Given the description of an element on the screen output the (x, y) to click on. 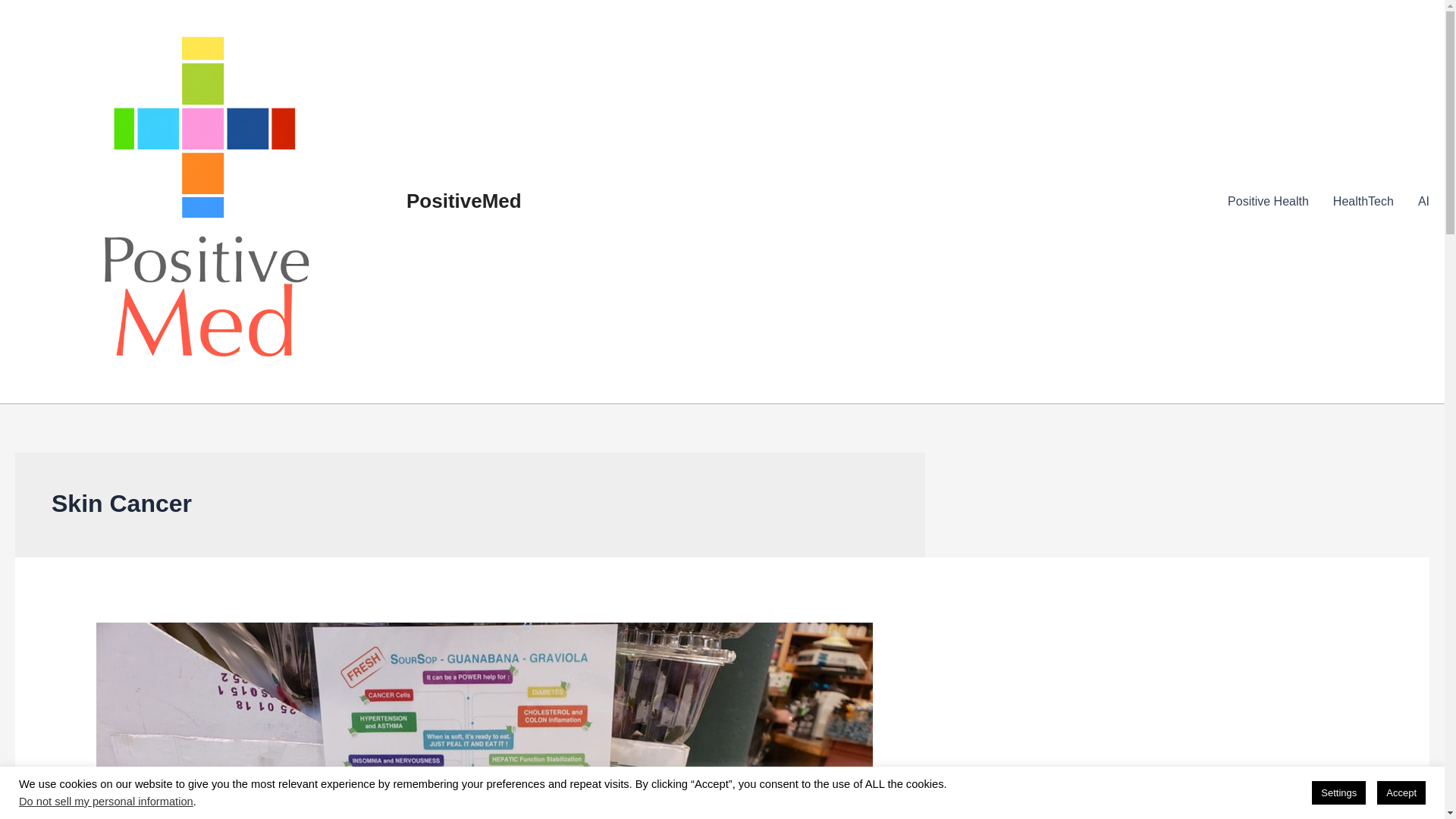
HealthTech (1363, 201)
PositiveMed (463, 200)
Positive Health (1267, 201)
